Given the description of an element on the screen output the (x, y) to click on. 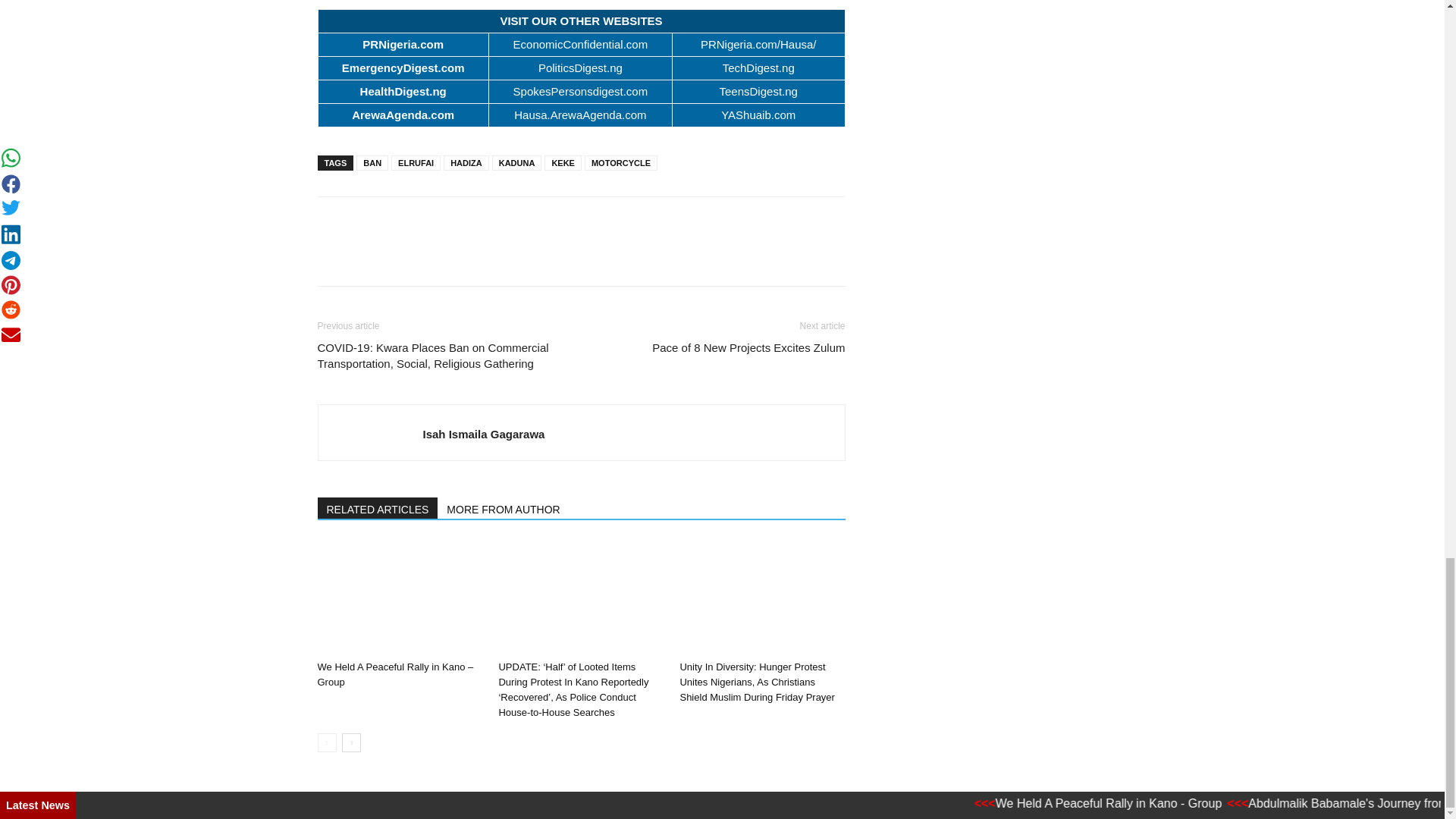
bottomFacebookLike (430, 220)
